Given the description of an element on the screen output the (x, y) to click on. 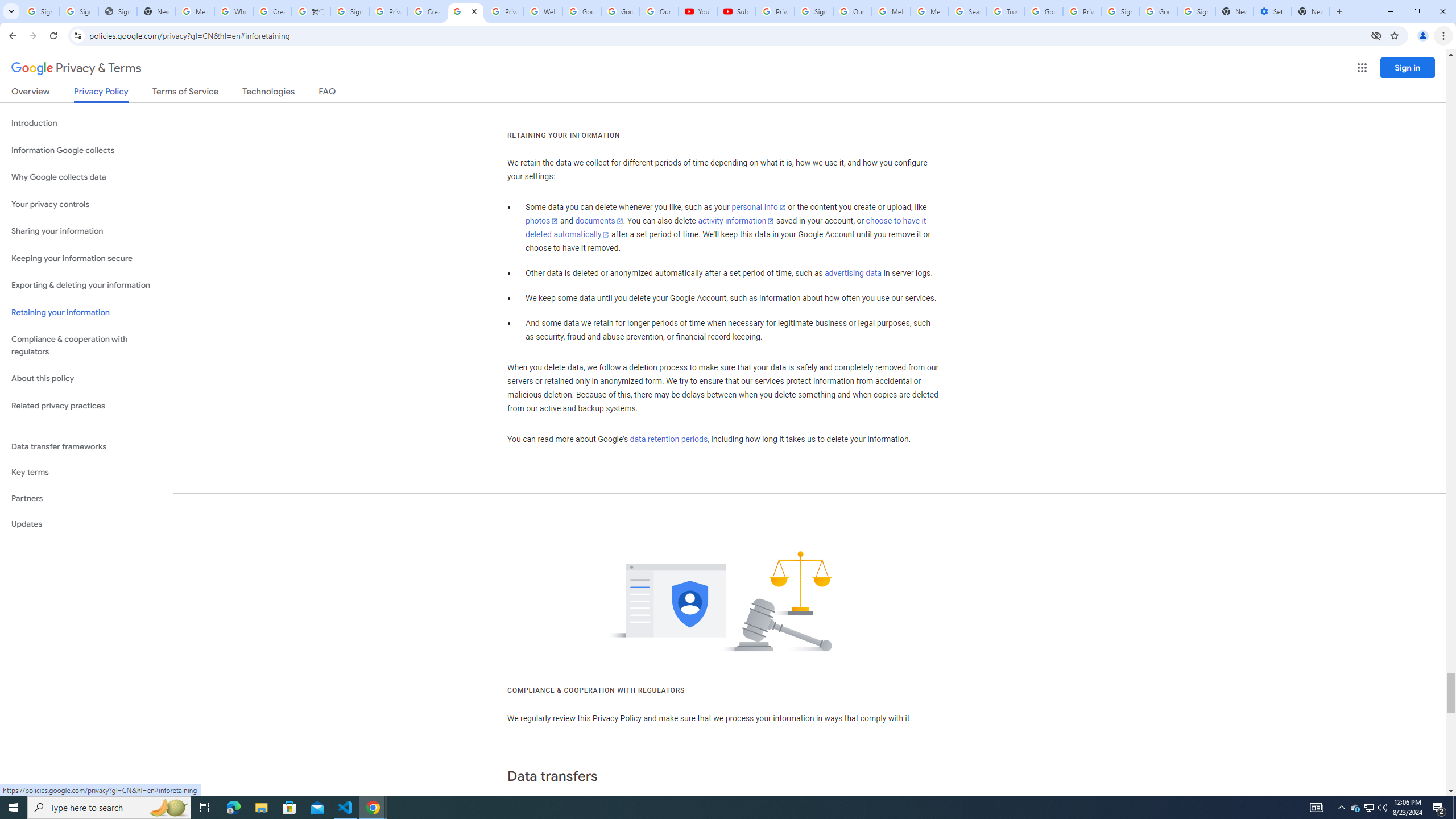
Subscriptions - YouTube (736, 11)
Sign in - Google Accounts (1196, 11)
Related privacy practices (86, 405)
